Given the description of an element on the screen output the (x, y) to click on. 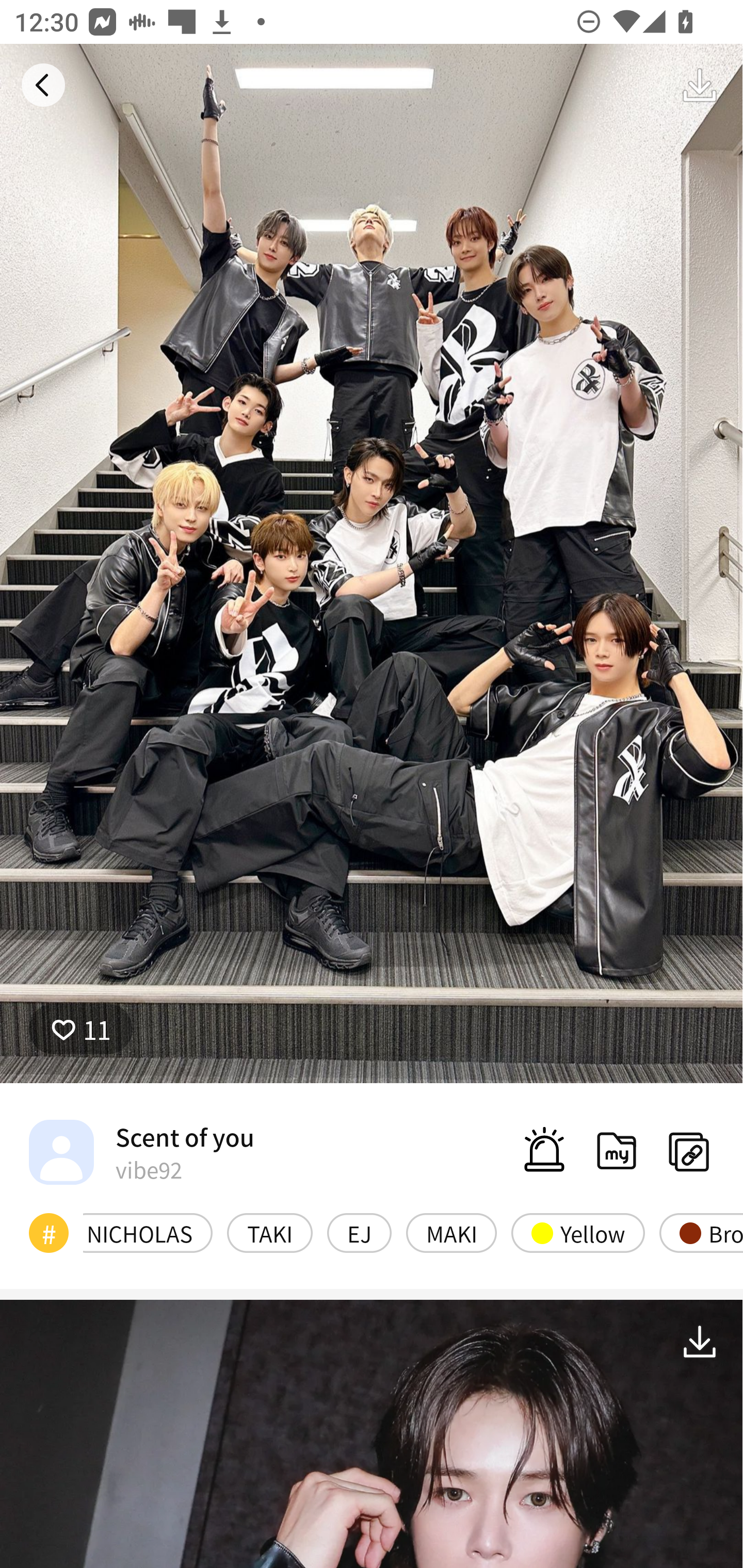
11 (80, 1029)
Scent of you vibe92 (141, 1151)
NICHOLAS (147, 1232)
TAKI (269, 1232)
EJ (358, 1232)
MAKI (451, 1232)
Yellow (577, 1232)
Brown (701, 1232)
